Given the description of an element on the screen output the (x, y) to click on. 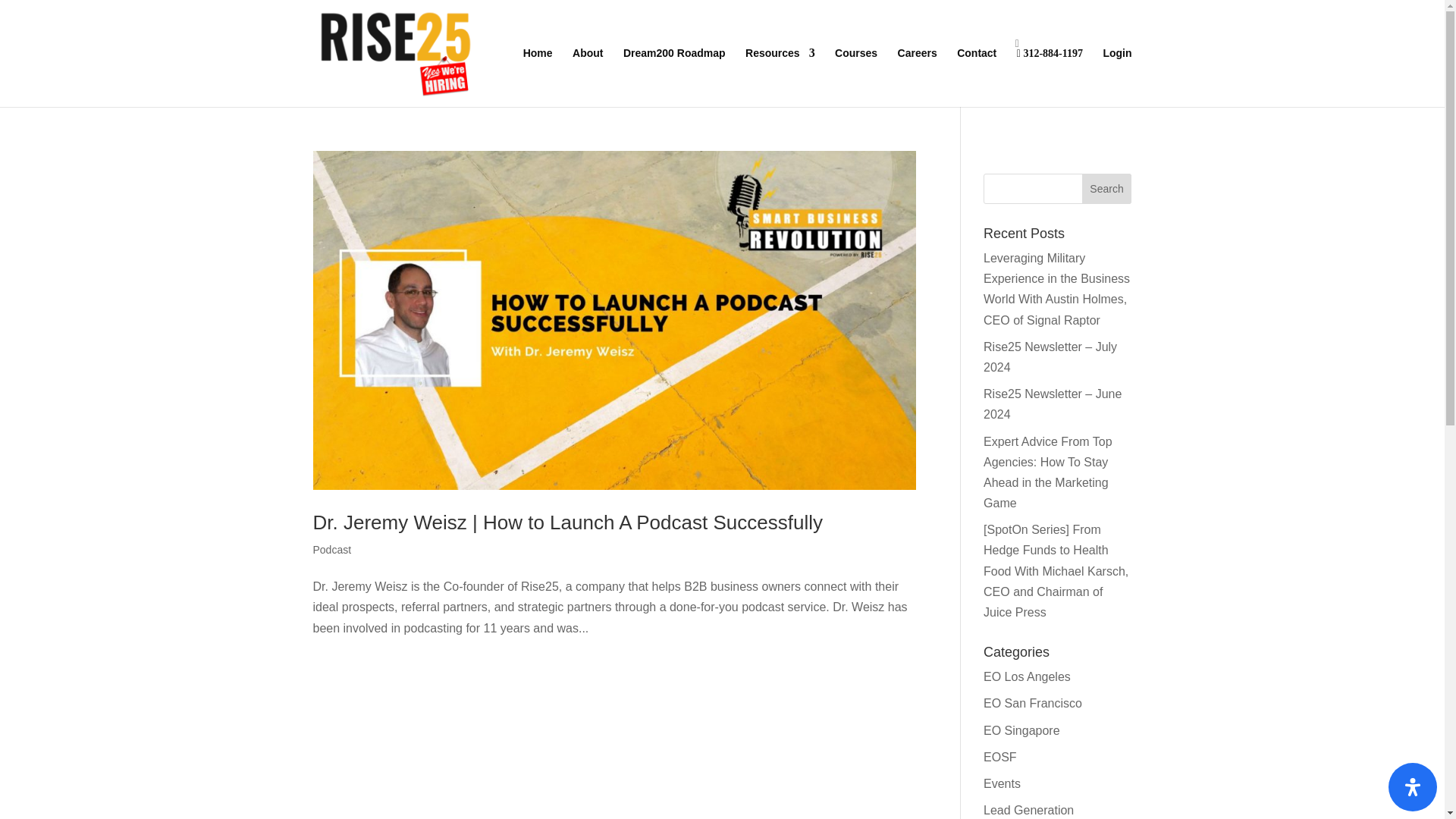
Resources (780, 65)
EO Los Angeles (1027, 676)
Courses (855, 65)
Dream200 Roadmap (674, 65)
312-884-1197 (1049, 66)
Home (537, 65)
EO San Francisco (1032, 703)
About (587, 65)
Podcast (331, 549)
Careers (917, 65)
Contact (975, 65)
Search (1106, 188)
Search (1106, 188)
